Given the description of an element on the screen output the (x, y) to click on. 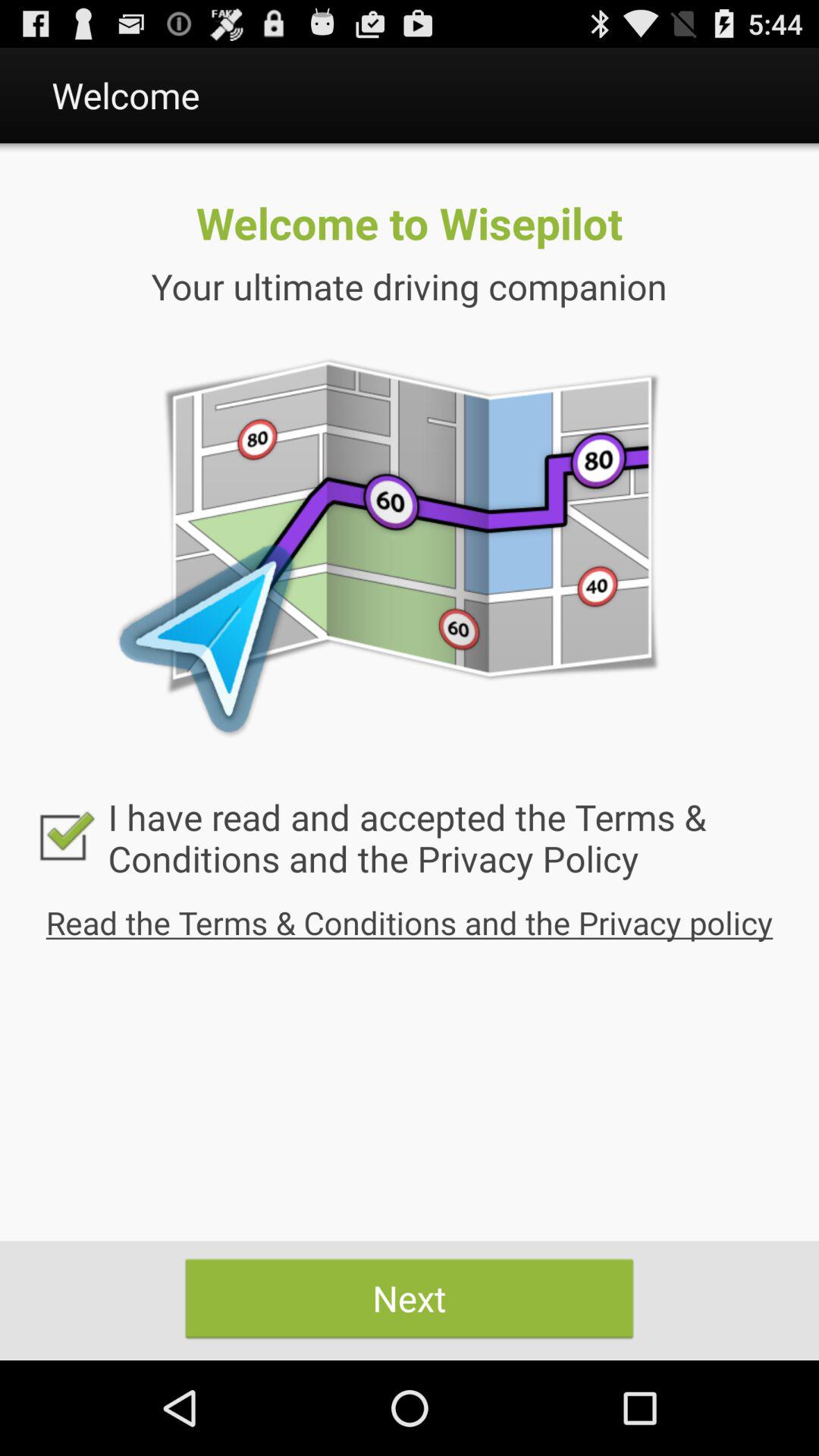
turn off app above read the terms (409, 837)
